Given the description of an element on the screen output the (x, y) to click on. 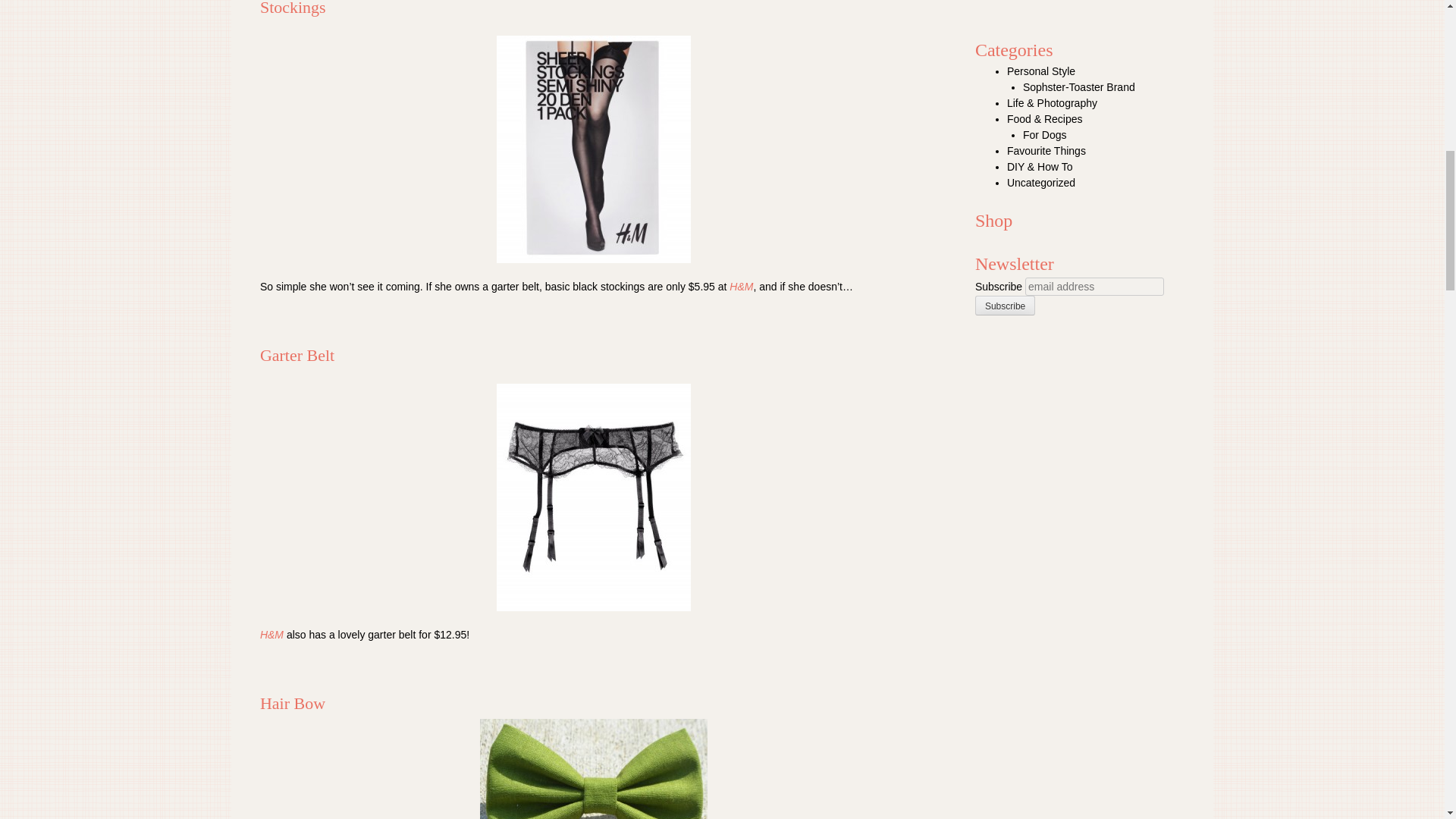
garter belt (593, 497)
Subscribe (1005, 305)
Hair bow (593, 769)
stockings (593, 149)
